Given the description of an element on the screen output the (x, y) to click on. 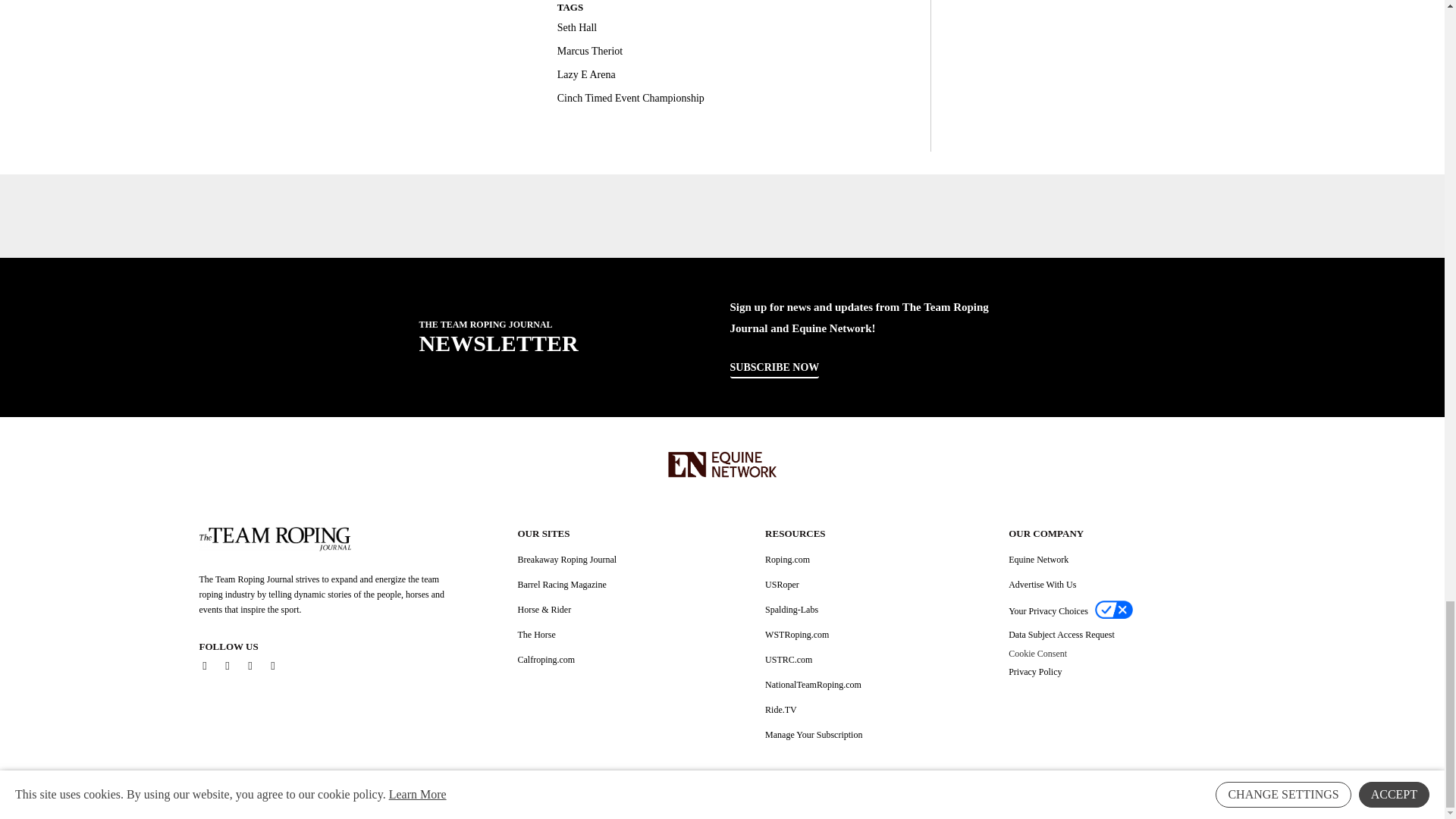
3rd party ad content (721, 215)
